Given the description of an element on the screen output the (x, y) to click on. 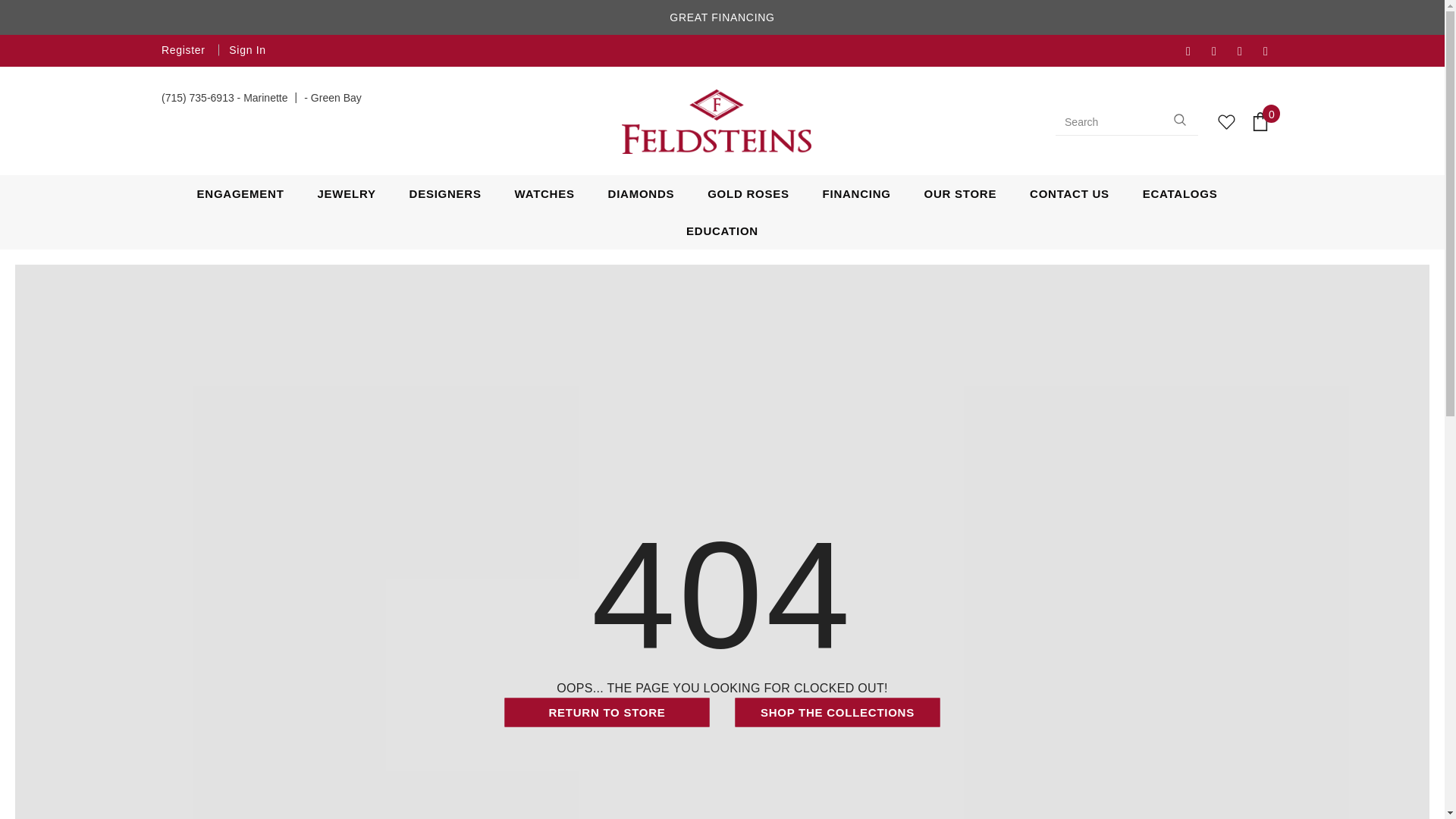
Sign In (242, 50)
Facebook (1195, 51)
Twitter (1220, 51)
GREAT FINANCING (721, 17)
Instagram (1246, 51)
Register (184, 50)
Pinterest (1272, 51)
